Given the description of an element on the screen output the (x, y) to click on. 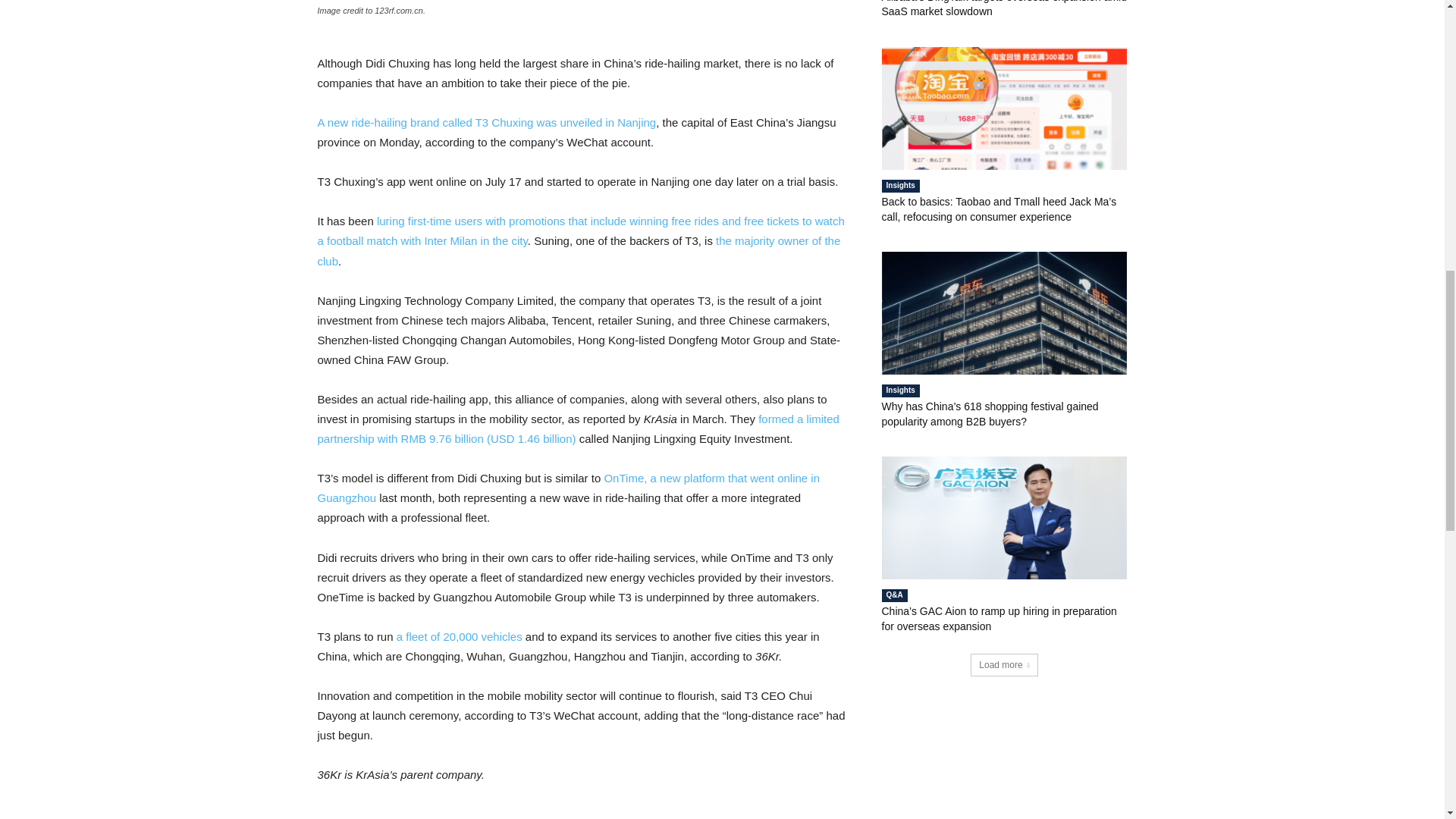
a fleet of 20,000 vehicles (459, 635)
OnTime, a new platform that went online in Guangzhou (568, 487)
the majority owner of the club (578, 250)
